Given the description of an element on the screen output the (x, y) to click on. 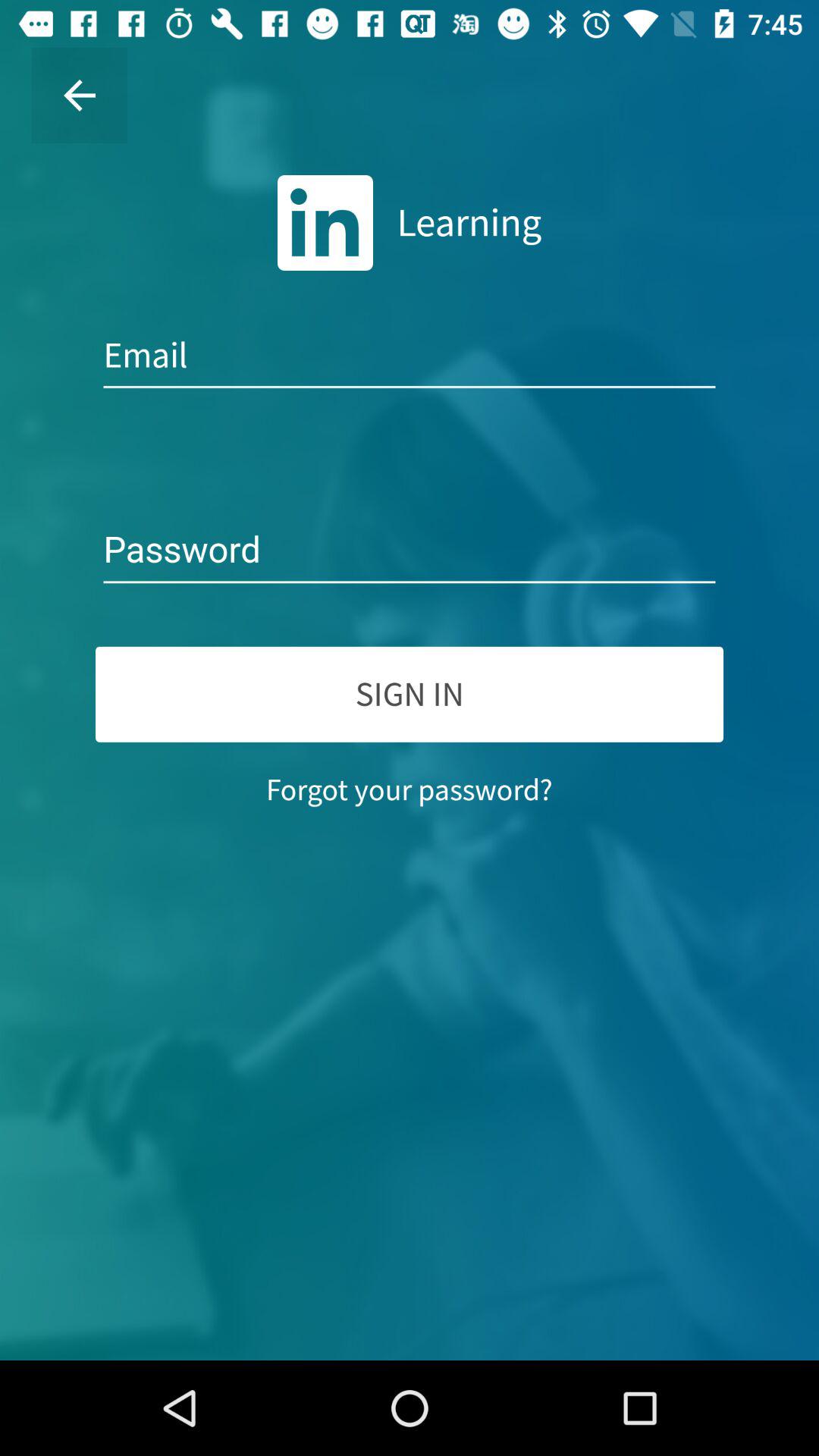
press the icon below learning (409, 355)
